Given the description of an element on the screen output the (x, y) to click on. 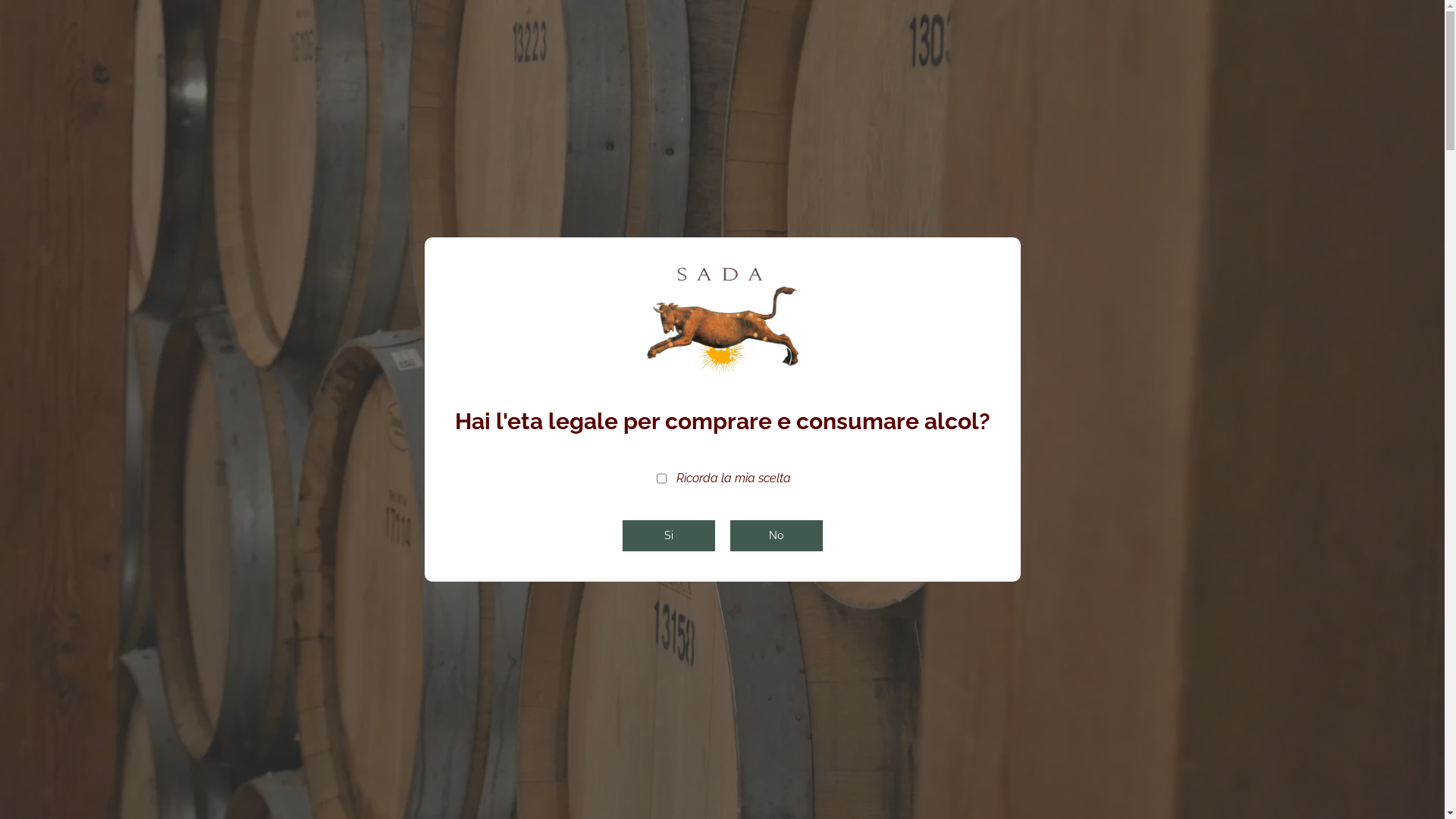
apri il menu Element type: hover (236, 102)
No Element type: text (775, 535)
Si Element type: text (667, 535)
Shopping box Element type: hover (1061, 105)
Accedi Element type: text (1199, 14)
